Given the description of an element on the screen output the (x, y) to click on. 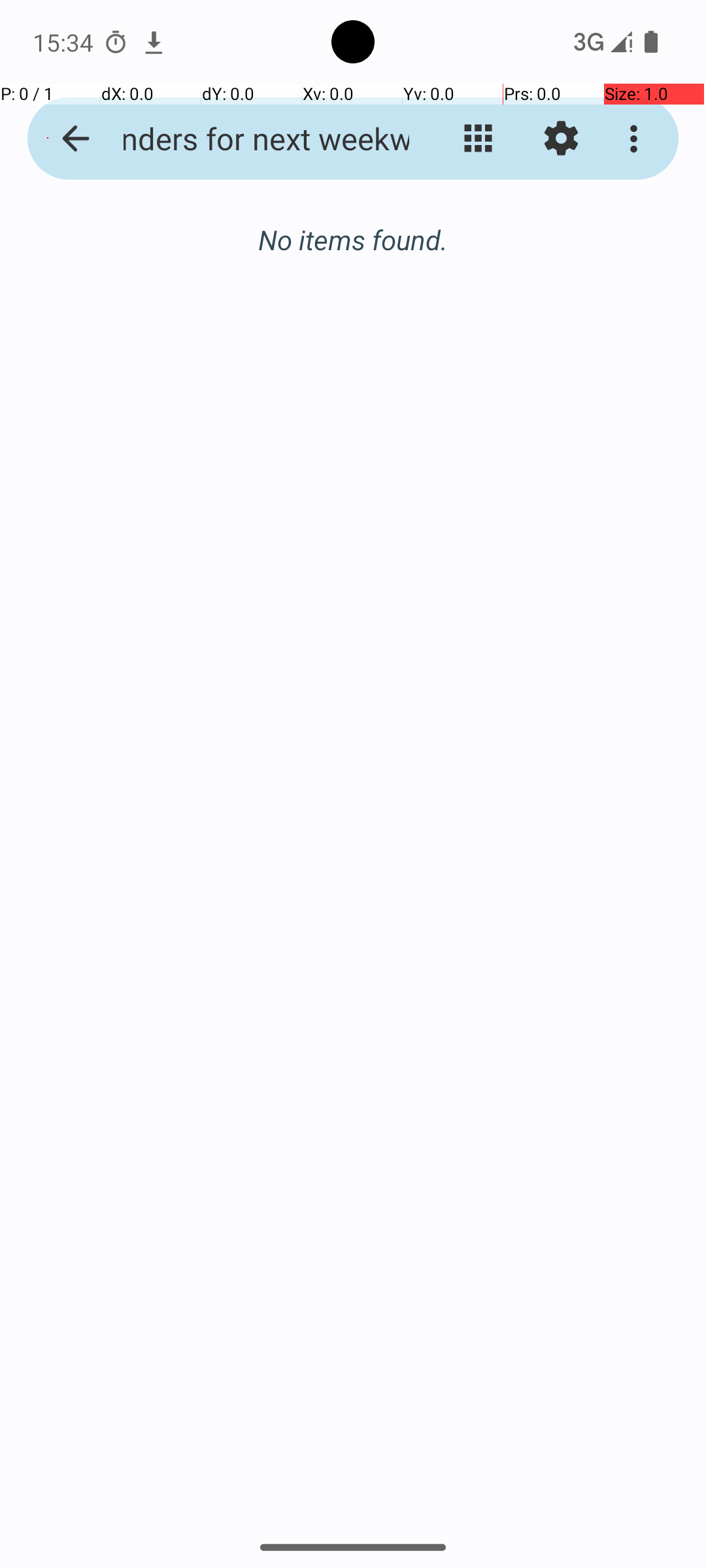
upcoming eventmeeting project deadline reminders for next weekwith teams this week Element type: android.widget.EditText (252, 138)
